Given the description of an element on the screen output the (x, y) to click on. 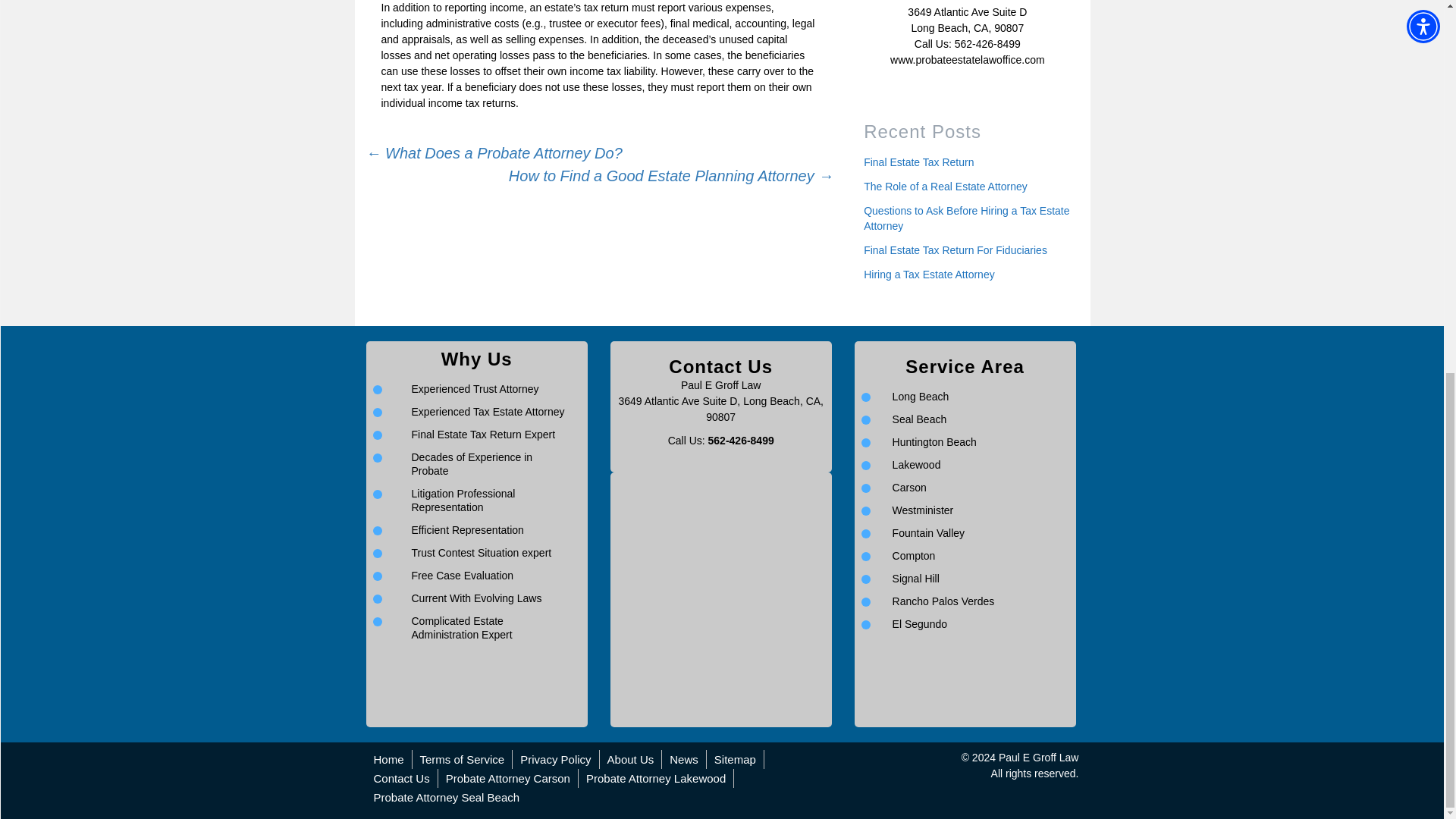
Hiring a Tax Estate Attorney (928, 274)
Questions to Ask Before Hiring a Tax Estate Attorney (965, 217)
Seal Beach (919, 419)
Final Estate Tax Return (918, 162)
Final Estate Tax Return For Fiduciaries (954, 250)
Huntington Beach (934, 441)
Lakewood (916, 464)
The Role of a Real Estate Attorney (945, 186)
562-426-8499 (740, 440)
Long Beach (920, 396)
